Given the description of an element on the screen output the (x, y) to click on. 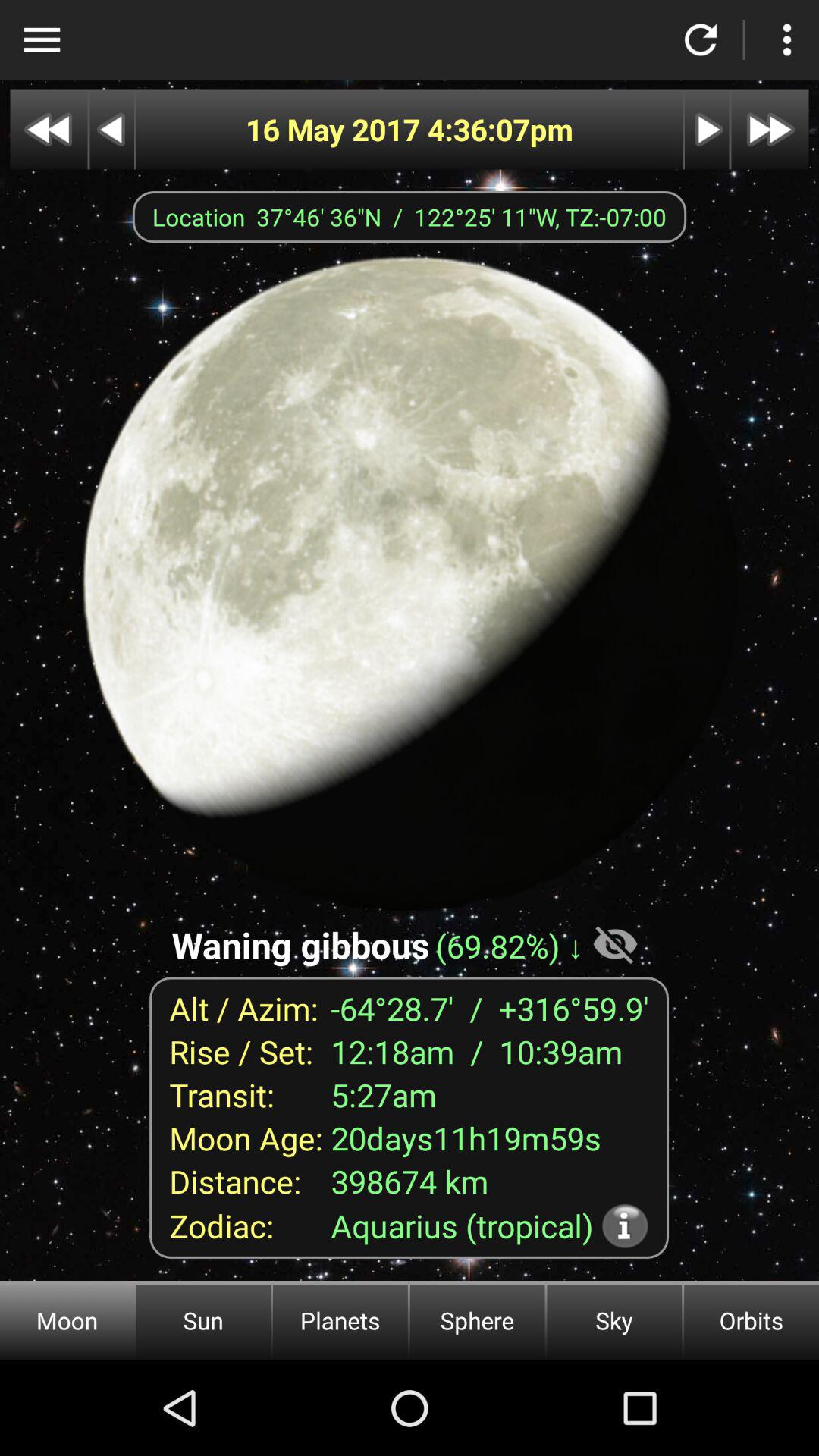
open options menu (41, 39)
